Given the description of an element on the screen output the (x, y) to click on. 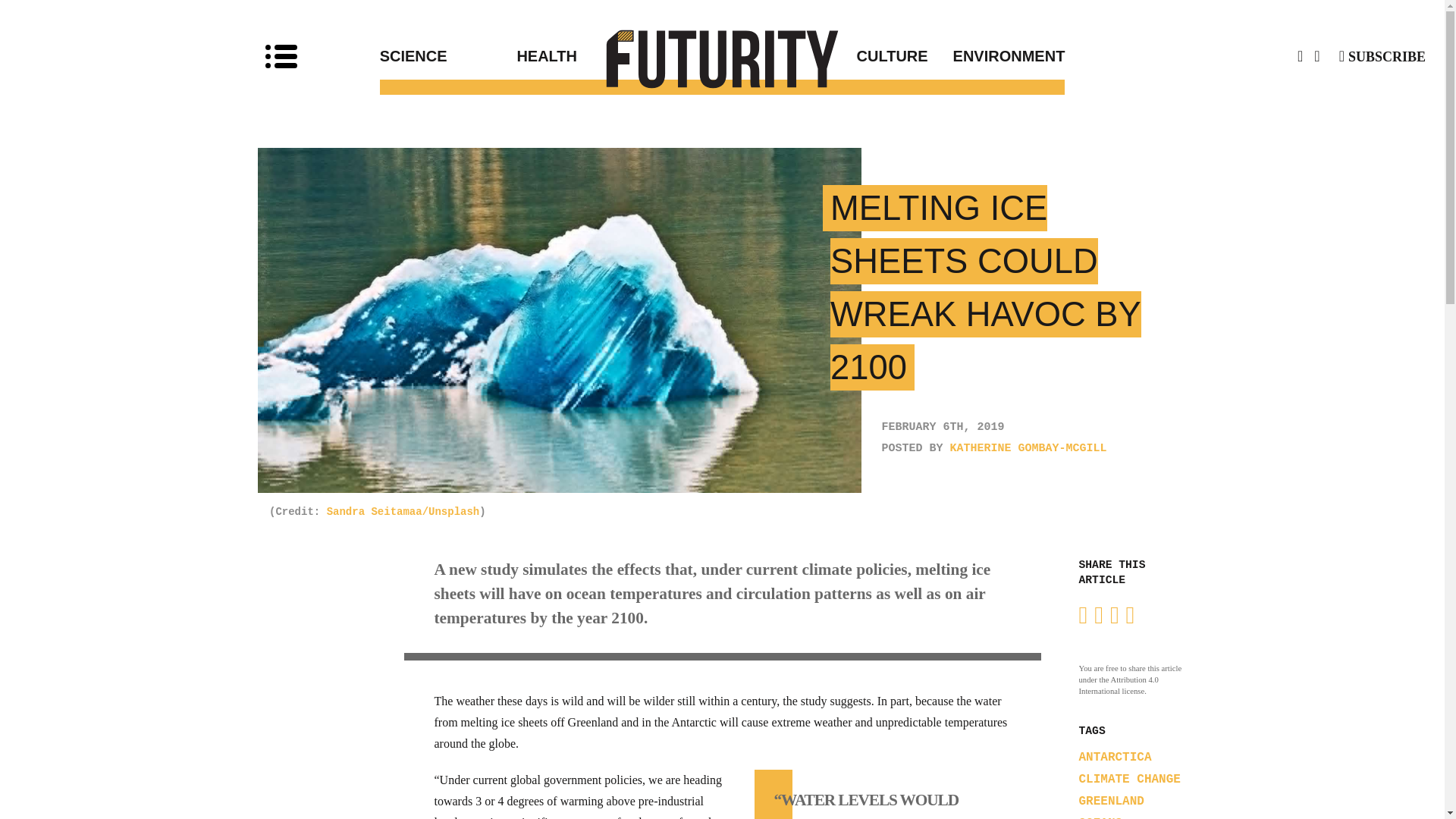
Environment (996, 55)
GREENLAND (1110, 801)
CLIMATE CHANGE (1128, 779)
Research news from top universities (722, 58)
SUBSCRIBE (1382, 56)
ANTARCTICA (1114, 757)
SCIENCE (448, 55)
Culture (824, 55)
Health (619, 55)
KATHERINE GOMBAY-MCGILL (1028, 448)
